Given the description of an element on the screen output the (x, y) to click on. 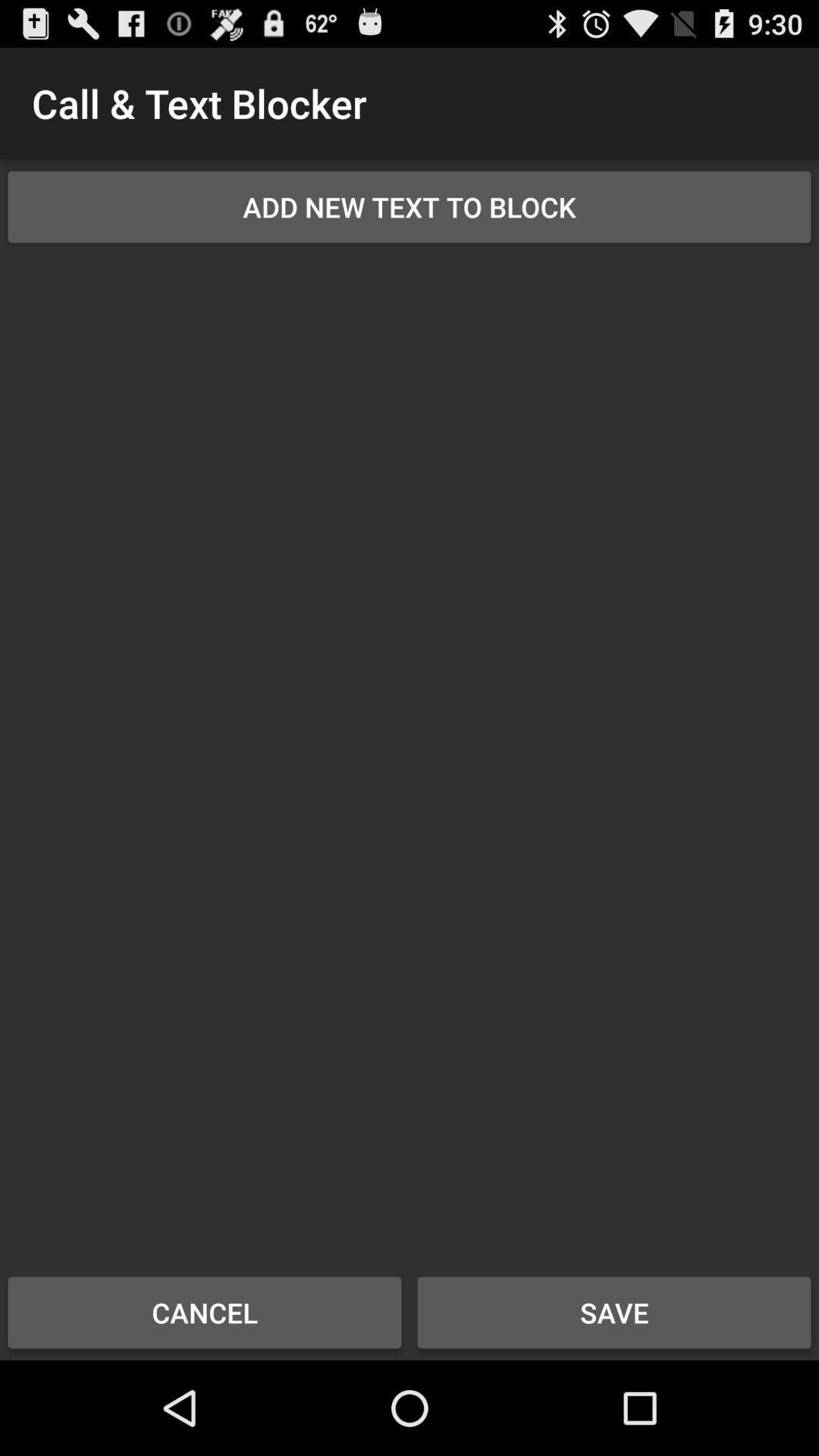
choose add new text (409, 206)
